Given the description of an element on the screen output the (x, y) to click on. 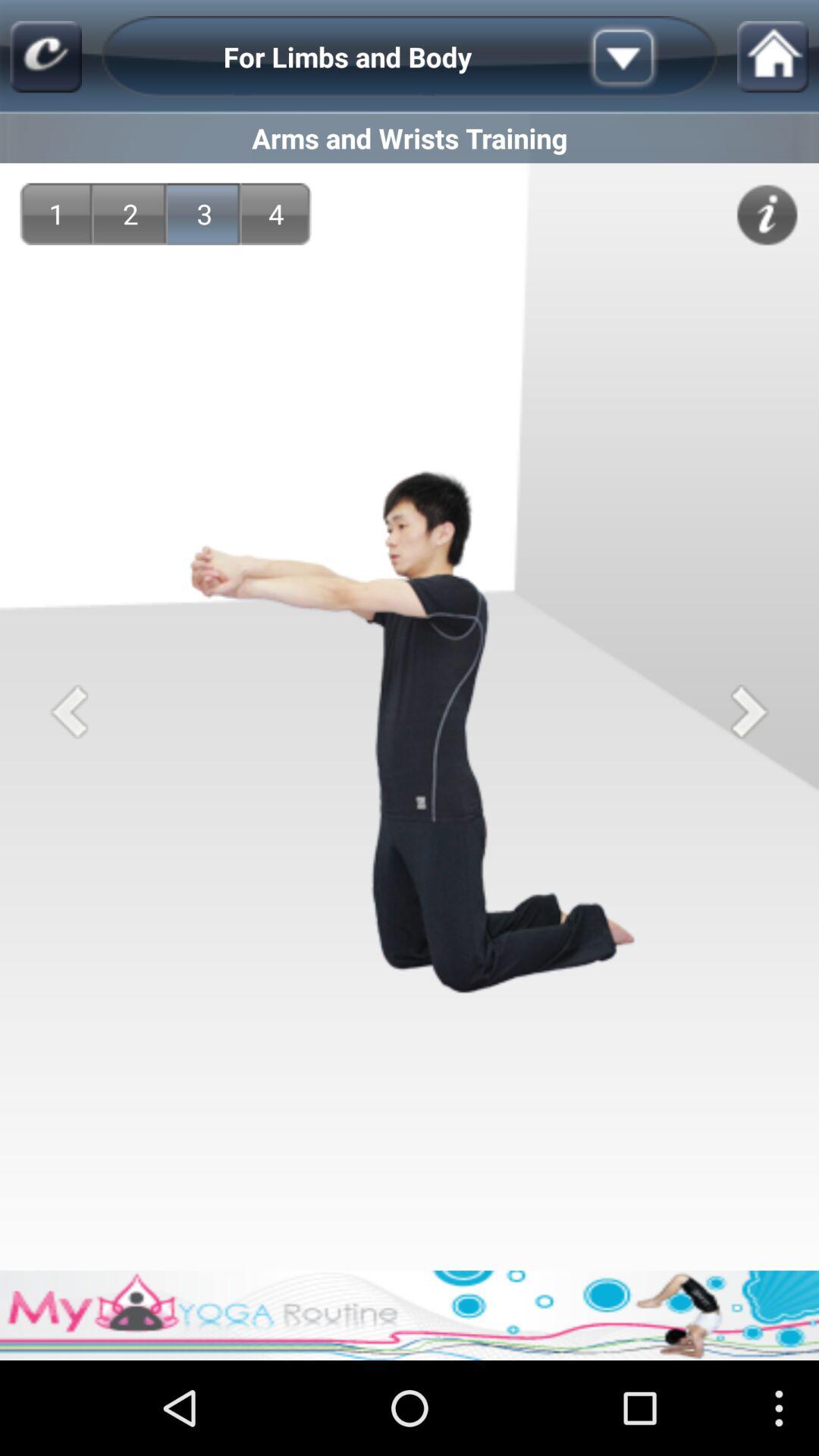
choose item next to 3 app (276, 214)
